Given the description of an element on the screen output the (x, y) to click on. 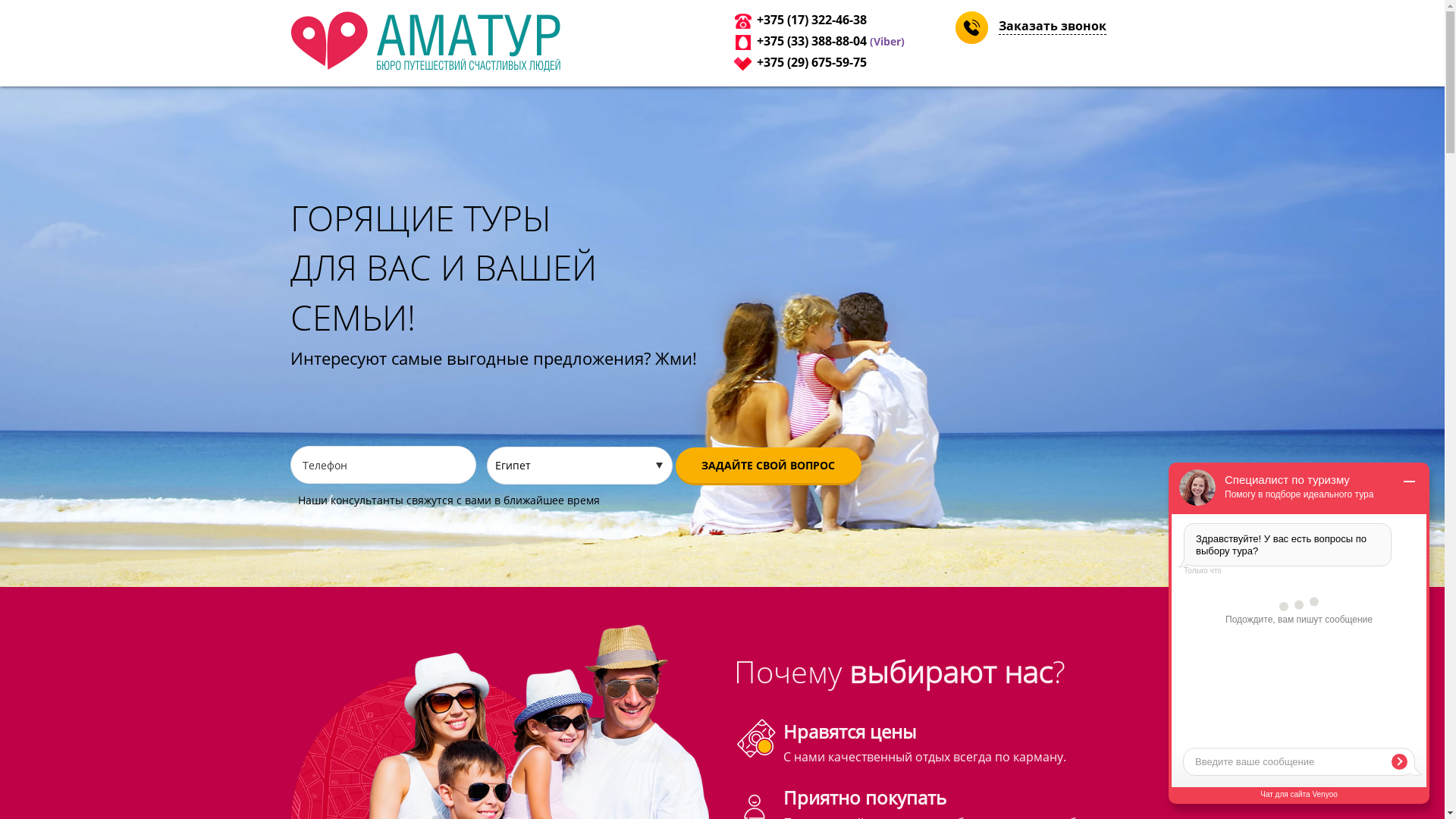
+375 (29) 675-59-75 Element type: text (811, 61)
+375 (17) 322-46-38 Element type: text (811, 19)
+375 (33) 388-88-04 Element type: text (811, 40)
